Given the description of an element on the screen output the (x, y) to click on. 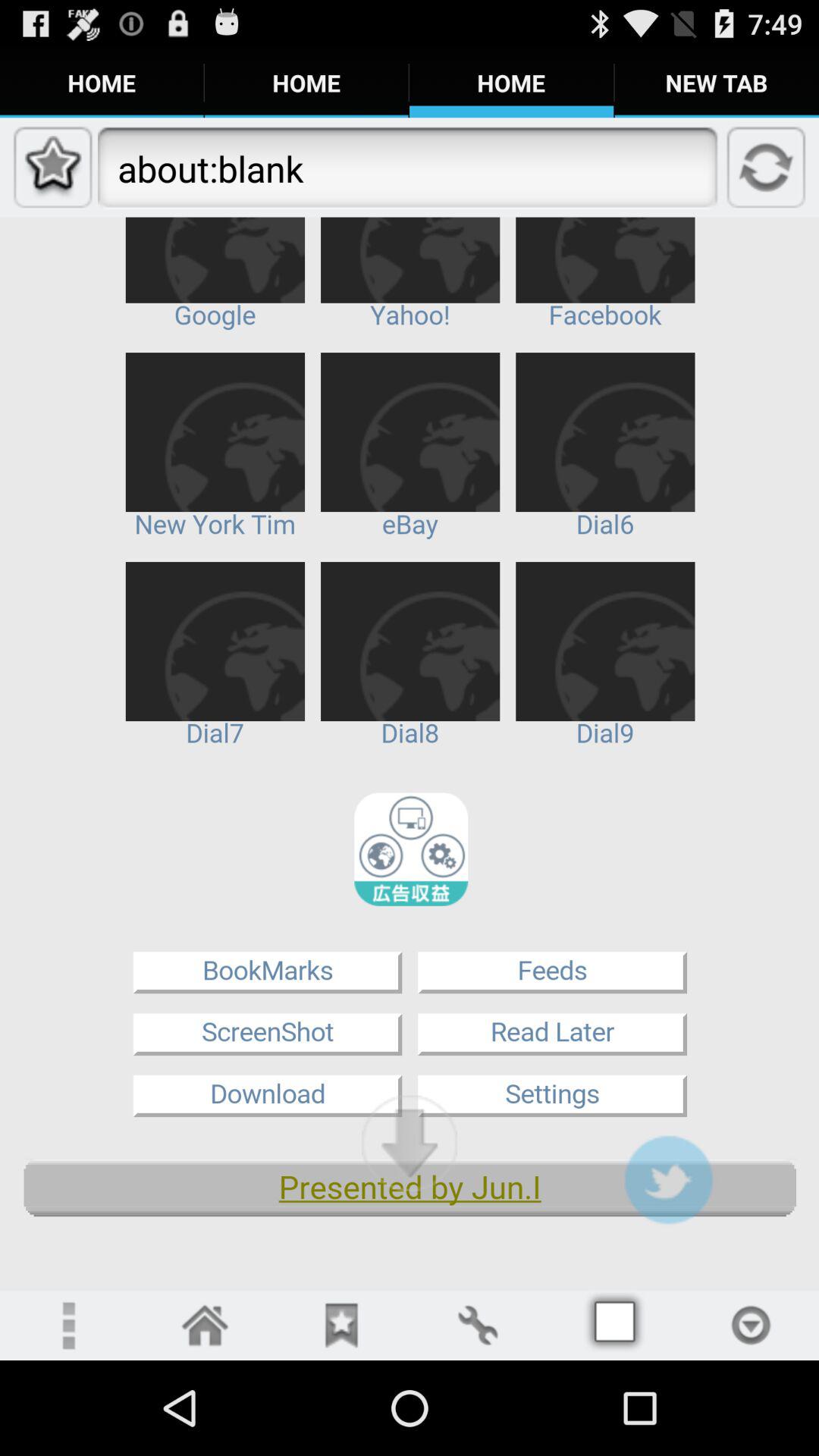
repair work (477, 1325)
